Given the description of an element on the screen output the (x, y) to click on. 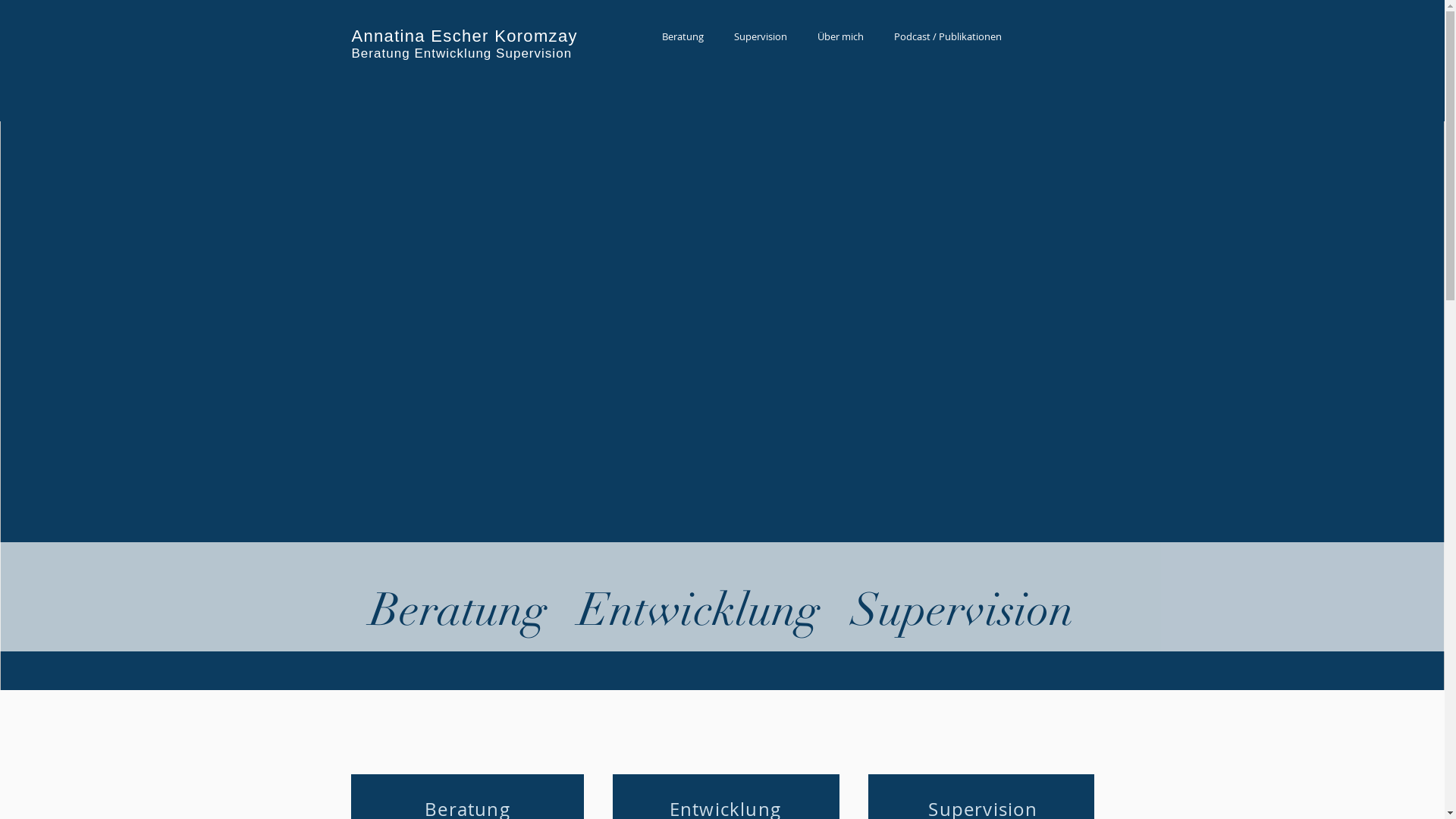
Annatina Escher Koromzay Element type: text (464, 35)
Podcast / Publikationen Element type: text (947, 36)
Supervision Element type: text (760, 36)
Beratung Element type: text (682, 36)
